Given the description of an element on the screen output the (x, y) to click on. 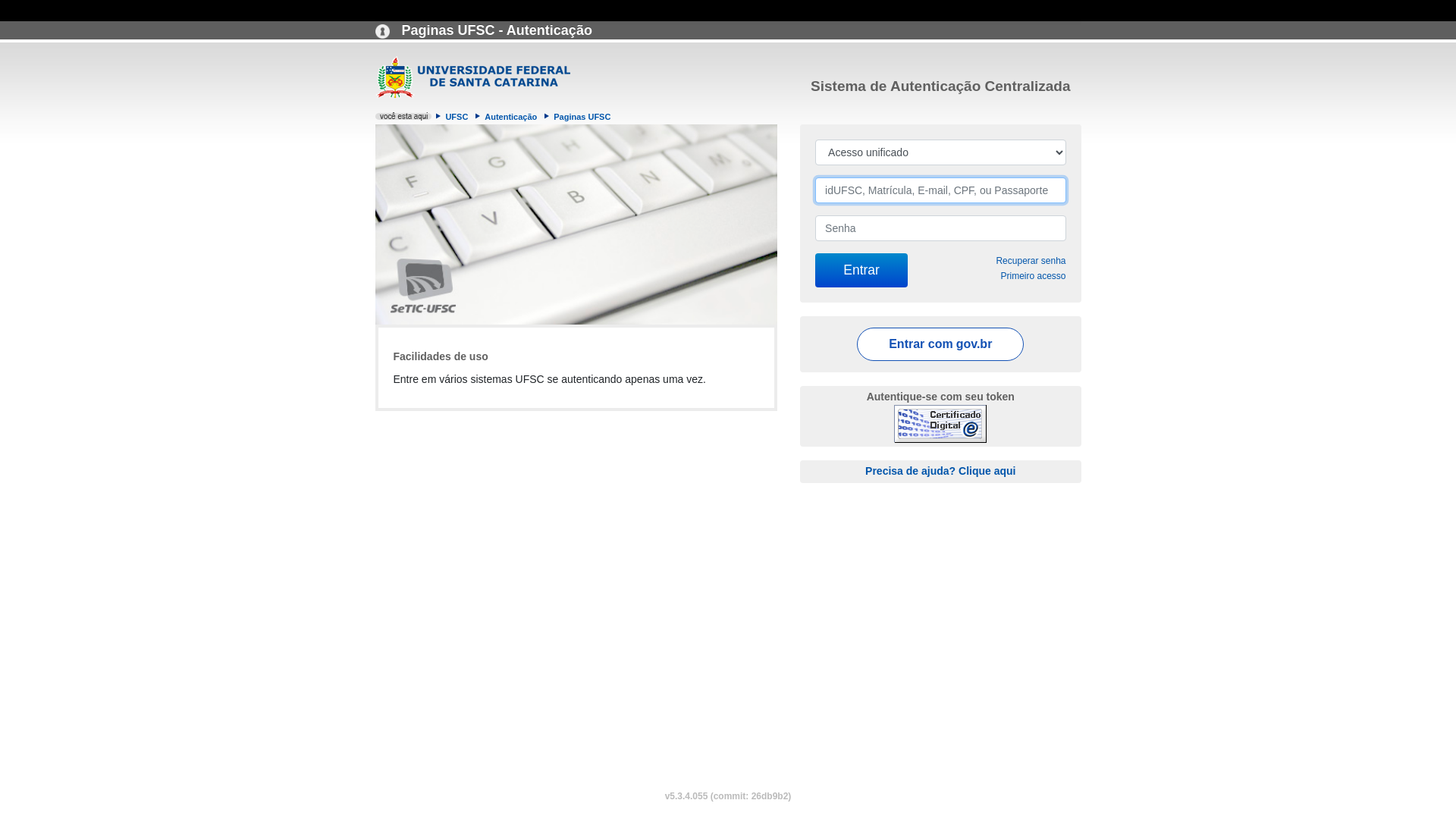
Precisa de ajuda? Clique aqui Element type: text (940, 470)
Recuperar senha Element type: text (1030, 260)
Primeiro acesso Element type: text (1032, 275)
Entrar com
gov.br Element type: text (939, 343)
Paginas UFSC Element type: text (581, 116)
Entrar Element type: text (861, 270)
UFSC Element type: text (456, 116)
